Given the description of an element on the screen output the (x, y) to click on. 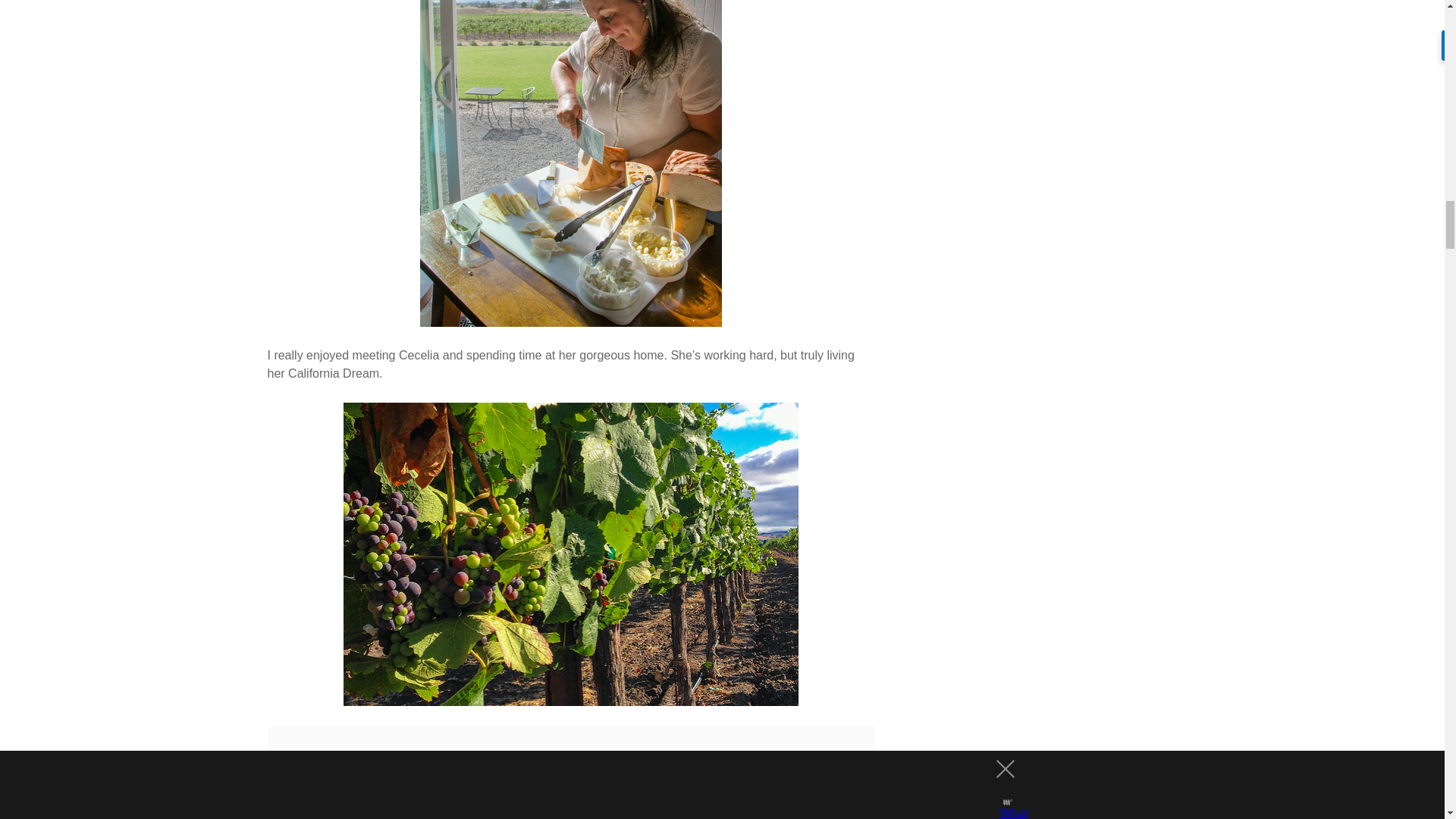
Achadinha Cheese Company, Petaluma, CA (571, 163)
